Given the description of an element on the screen output the (x, y) to click on. 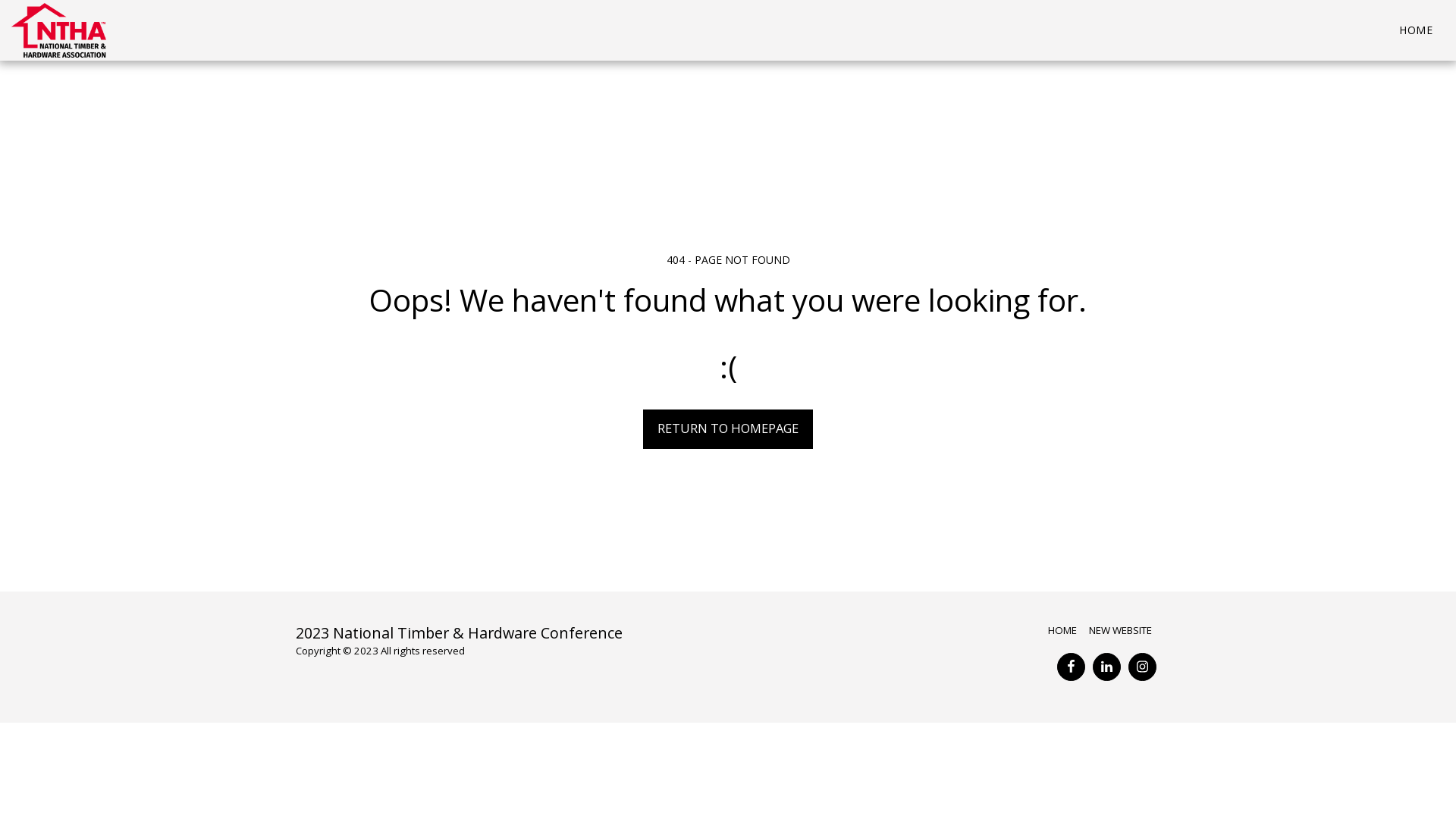
HOME Element type: text (1415, 29)
  Element type: text (1106, 666)
NEW WEBSITE  Element type: text (1121, 629)
  Element type: text (1142, 666)
HOME Element type: text (1062, 629)
  Element type: text (1071, 666)
RETURN TO HOMEPAGE Element type: text (727, 428)
